Given the description of an element on the screen output the (x, y) to click on. 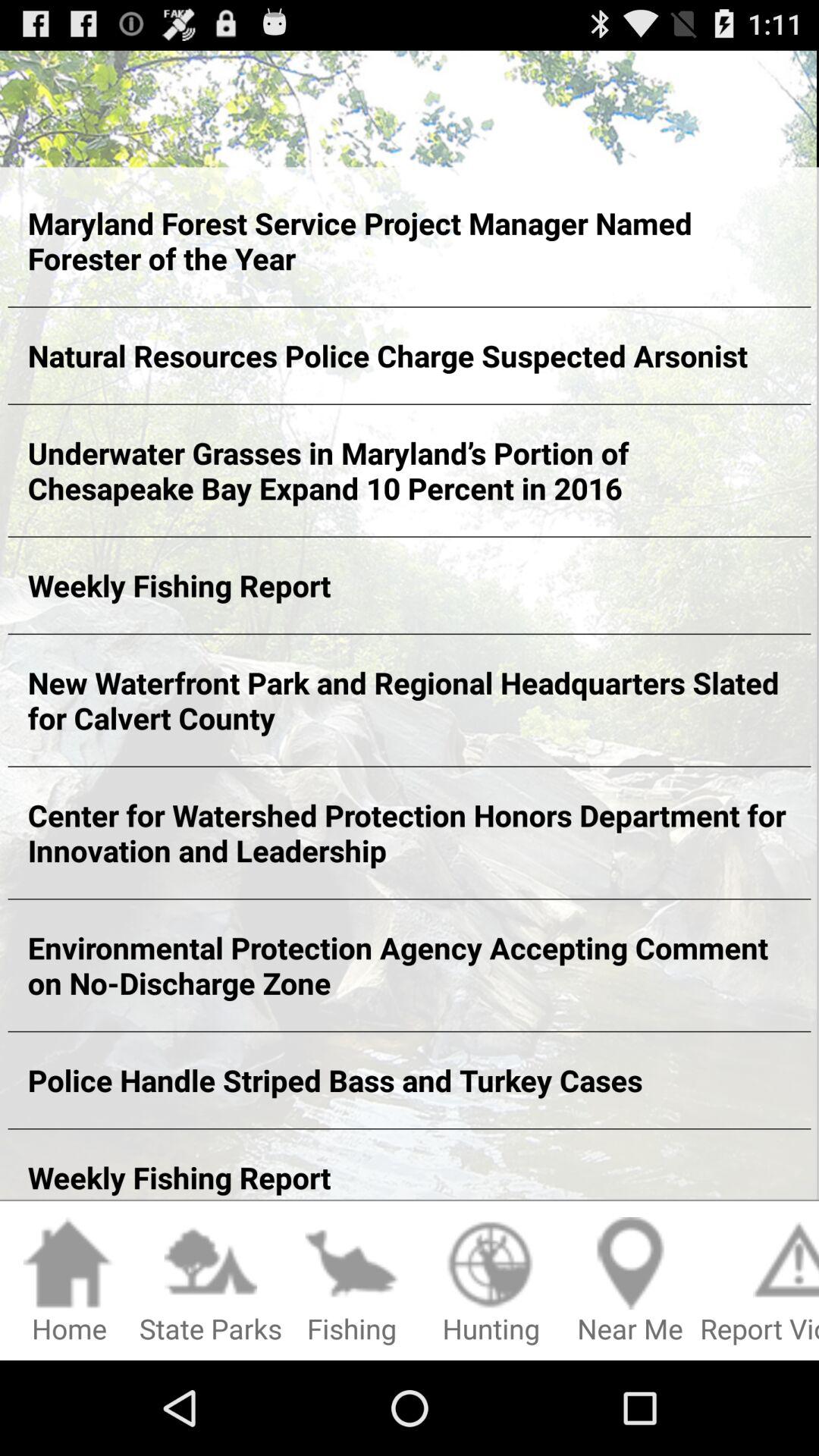
click app below weekly fishing report icon (490, 1282)
